Given the description of an element on the screen output the (x, y) to click on. 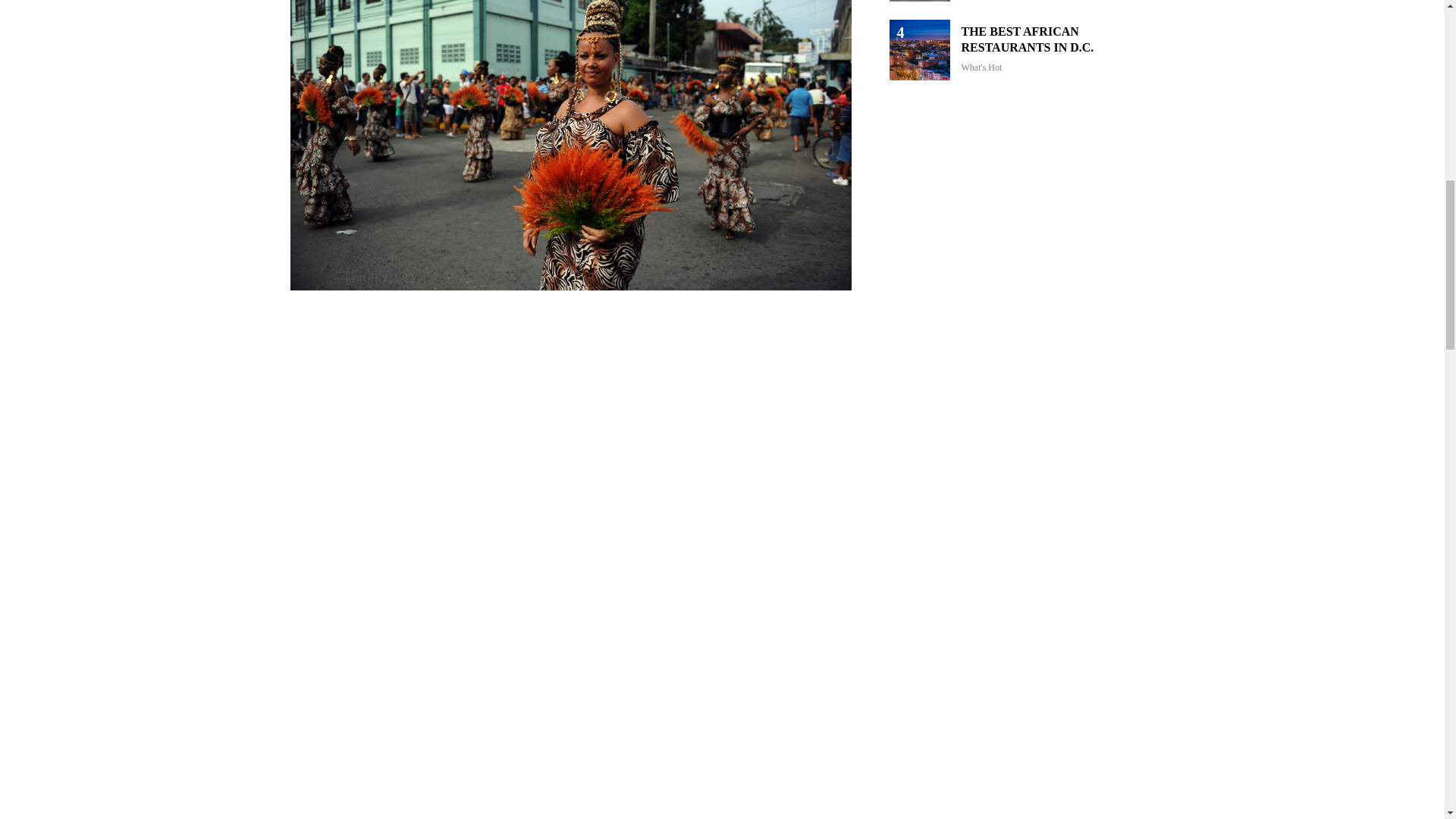
YouTube video player (1021, 513)
YouTube video player (1021, 237)
